Given the description of an element on the screen output the (x, y) to click on. 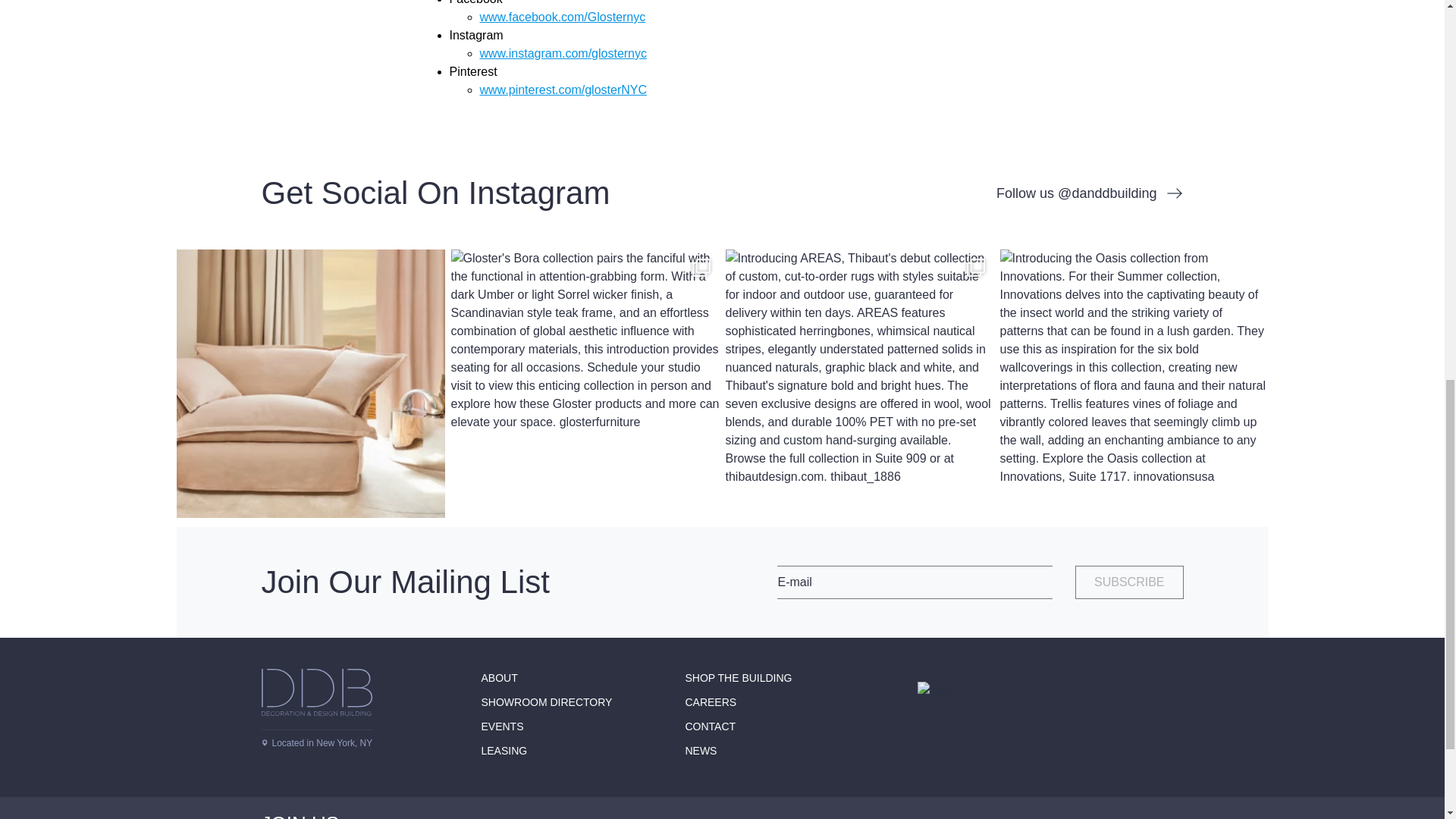
NEWS (700, 750)
LEASING (503, 750)
SHOP THE BUILDING (738, 677)
EVENTS (501, 726)
SUBSCRIBE (1128, 581)
SHOWROOM DIRECTORY (545, 702)
ABOUT (498, 677)
CAREERS (710, 702)
CONTACT (709, 726)
